Given the description of an element on the screen output the (x, y) to click on. 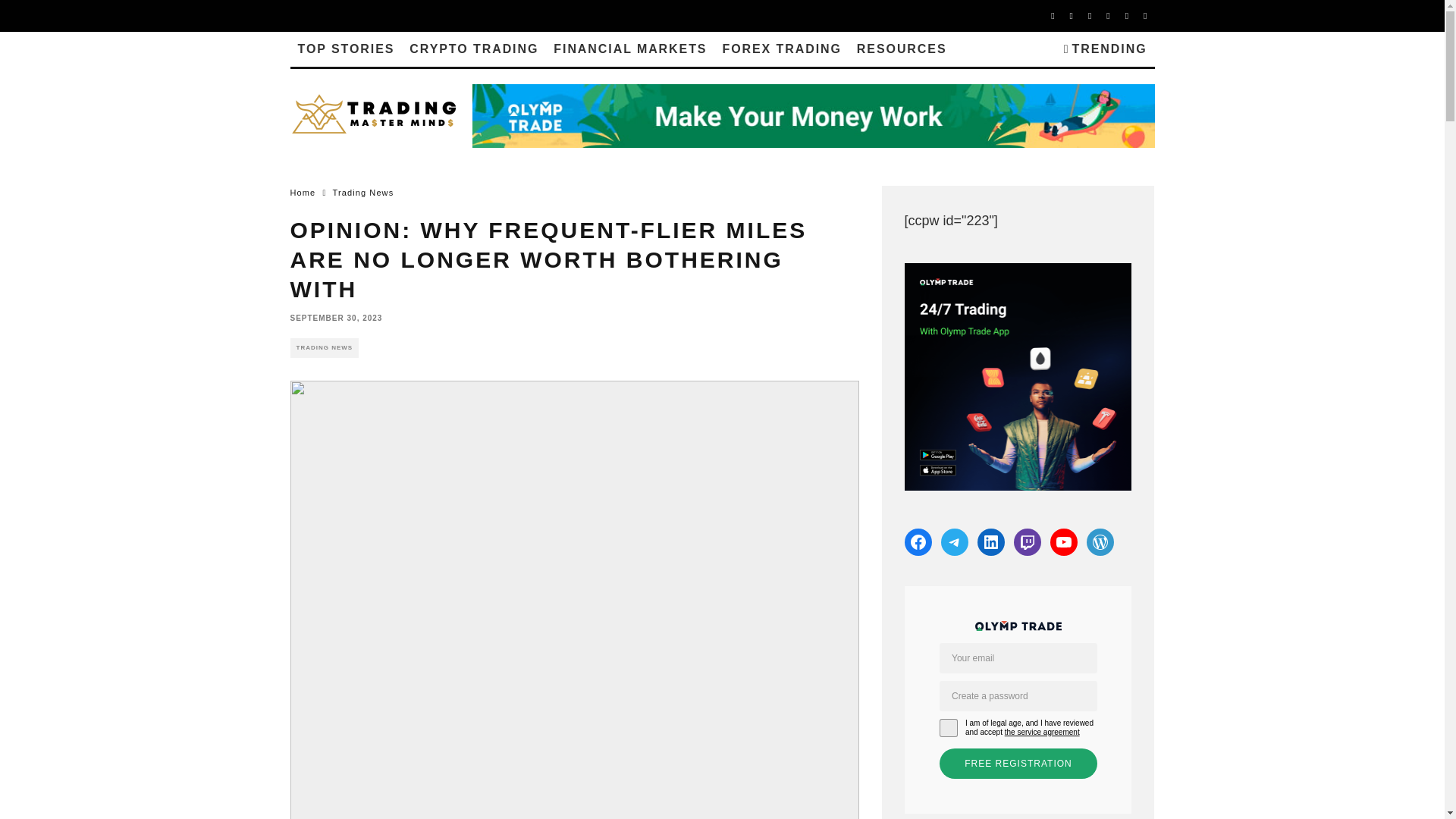
RESOURCES (901, 48)
CRYPTO TRADING (473, 48)
FINANCIAL MARKETS (630, 48)
TOP STORIES (345, 48)
FOREX TRADING (781, 48)
TRENDING (1105, 48)
Trading News (363, 192)
Home (302, 192)
